Given the description of an element on the screen output the (x, y) to click on. 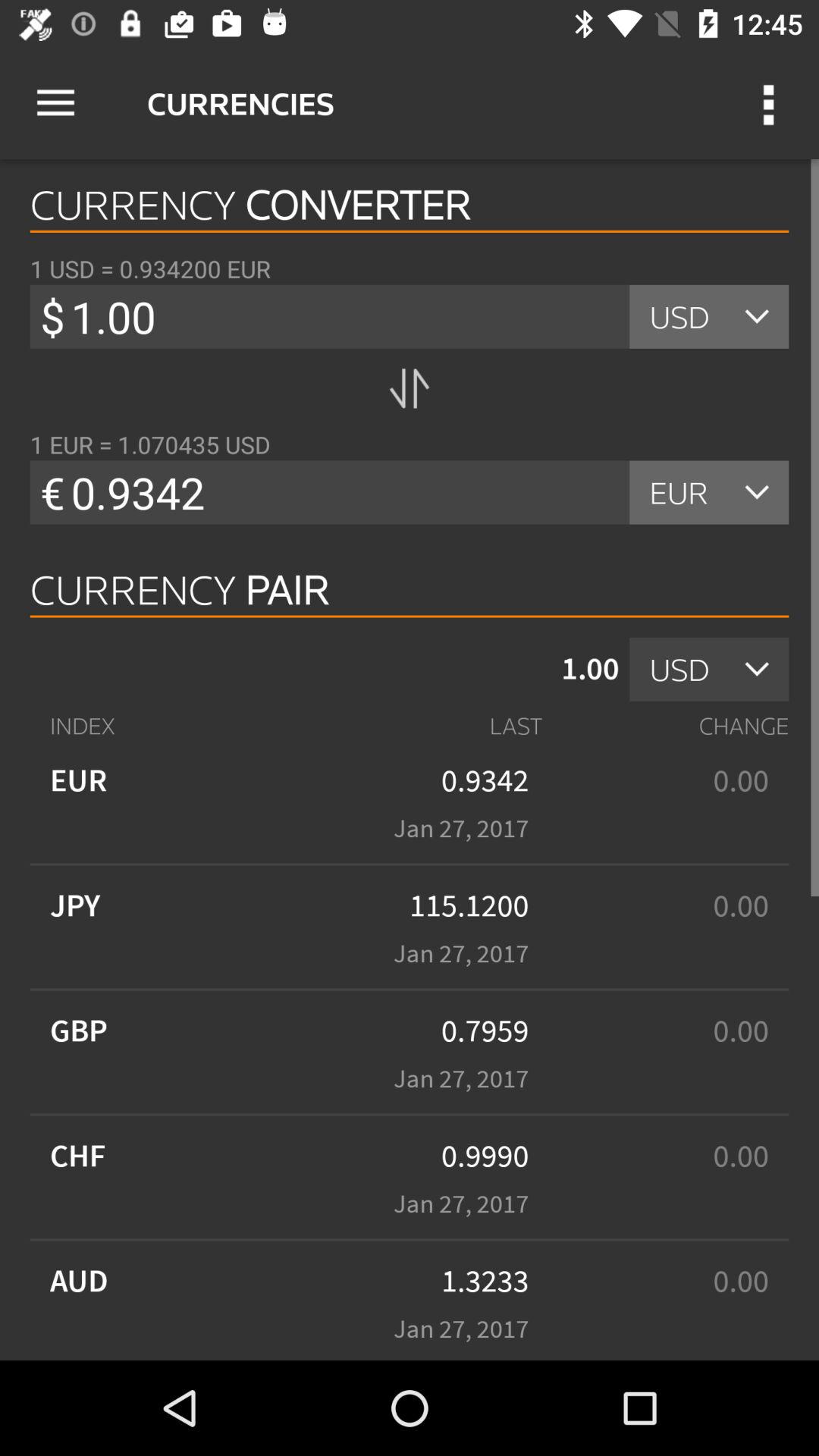
press icon above currency converter item (55, 103)
